Given the description of an element on the screen output the (x, y) to click on. 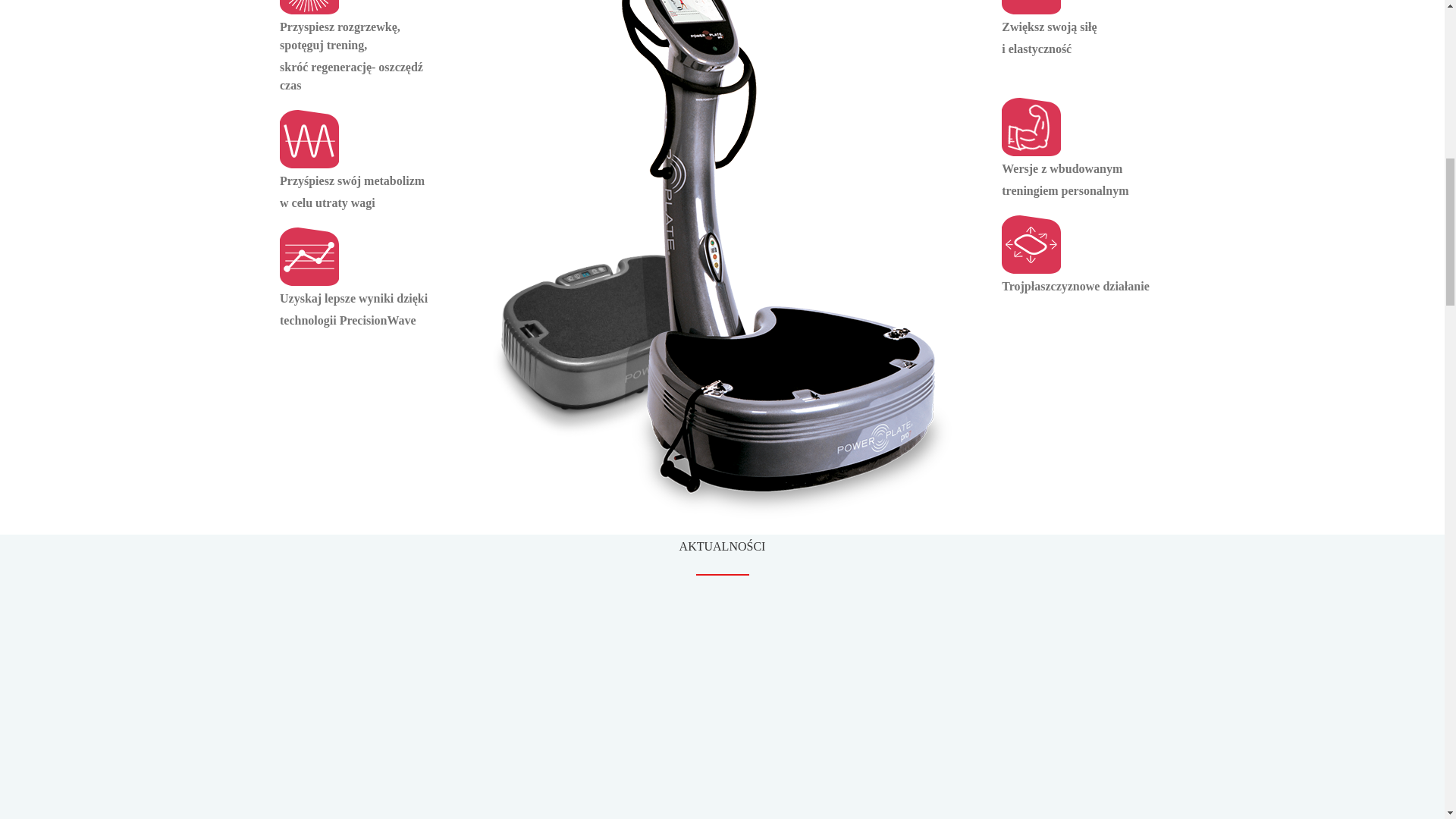
3i (309, 256)
6i (1031, 7)
2i (309, 138)
line (722, 574)
4i (1031, 244)
1i (309, 7)
5i (1031, 126)
